Given the description of an element on the screen output the (x, y) to click on. 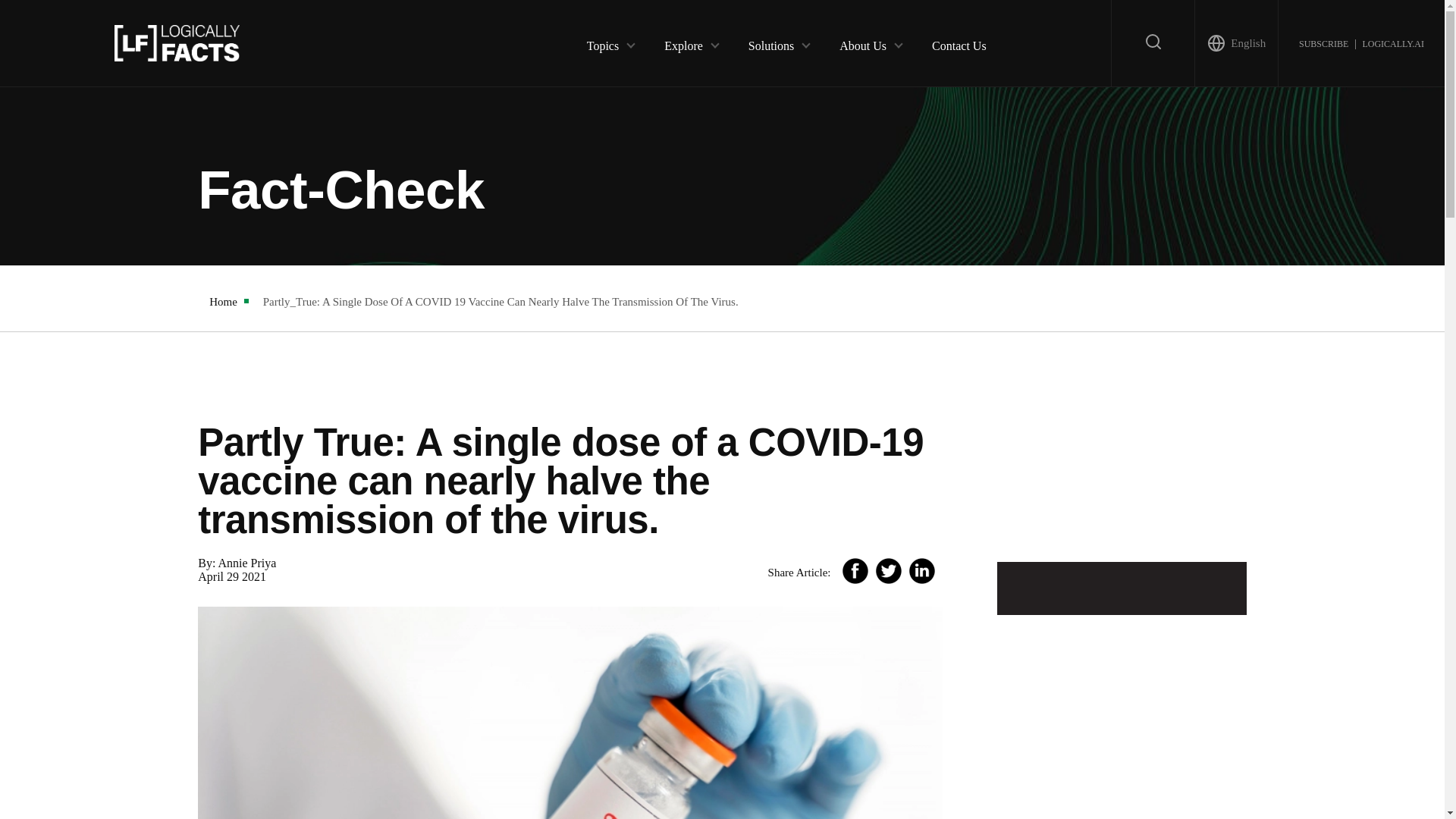
Contact Us (959, 42)
Topics (602, 42)
Home (223, 301)
SUBSCRIBE (1323, 42)
Explore (683, 42)
Solutions (770, 42)
About Us (863, 42)
LOGICALLY.AI (1392, 42)
